Given the description of an element on the screen output the (x, y) to click on. 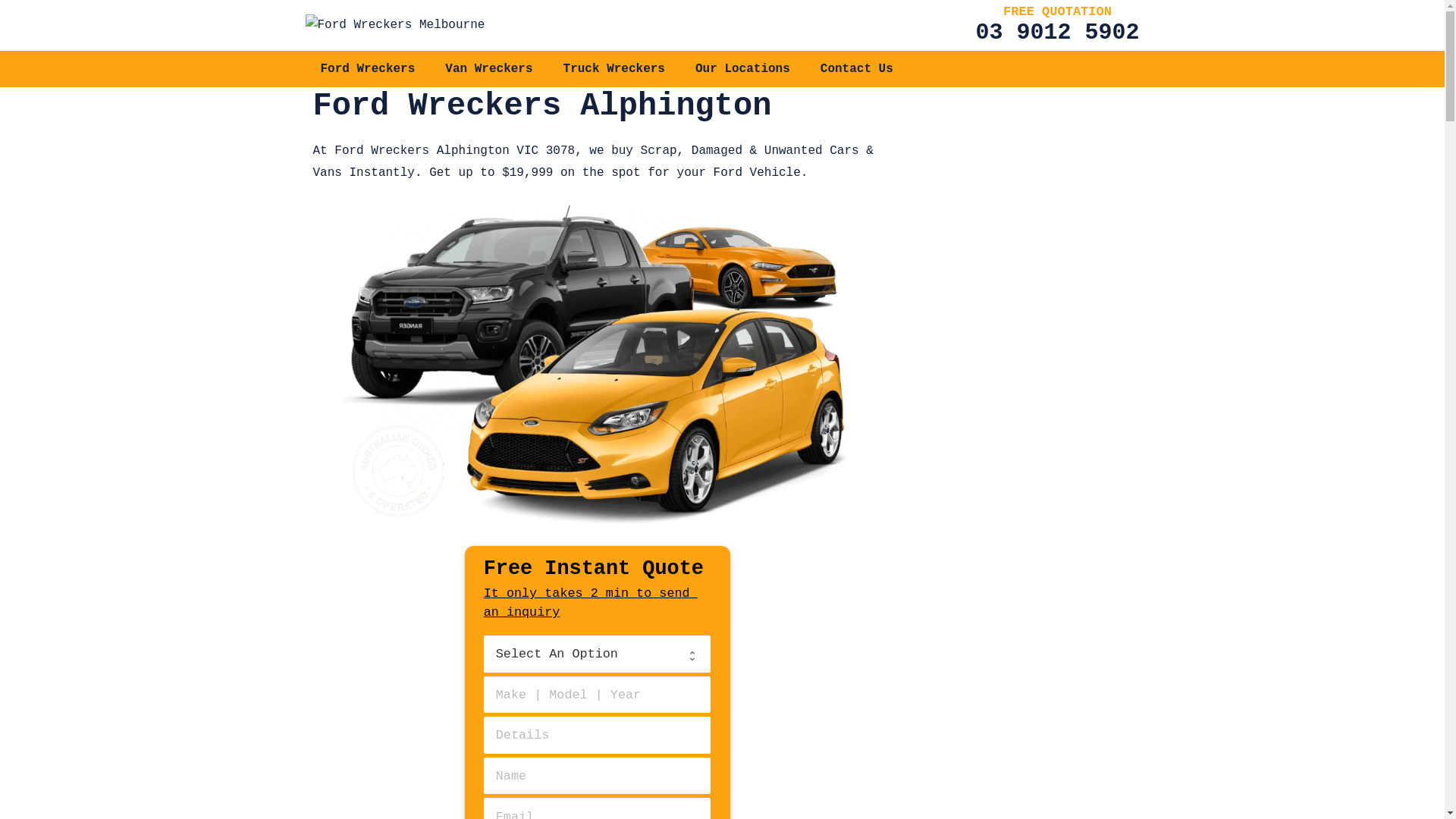
Our Locations Element type: text (742, 68)
Ford Wreckers Element type: text (366, 68)
Contact Us Element type: text (856, 68)
Truck Wreckers Element type: text (614, 68)
03 9012 5902 Element type: text (1057, 32)
Van Wreckers Element type: text (488, 68)
